Given the description of an element on the screen output the (x, y) to click on. 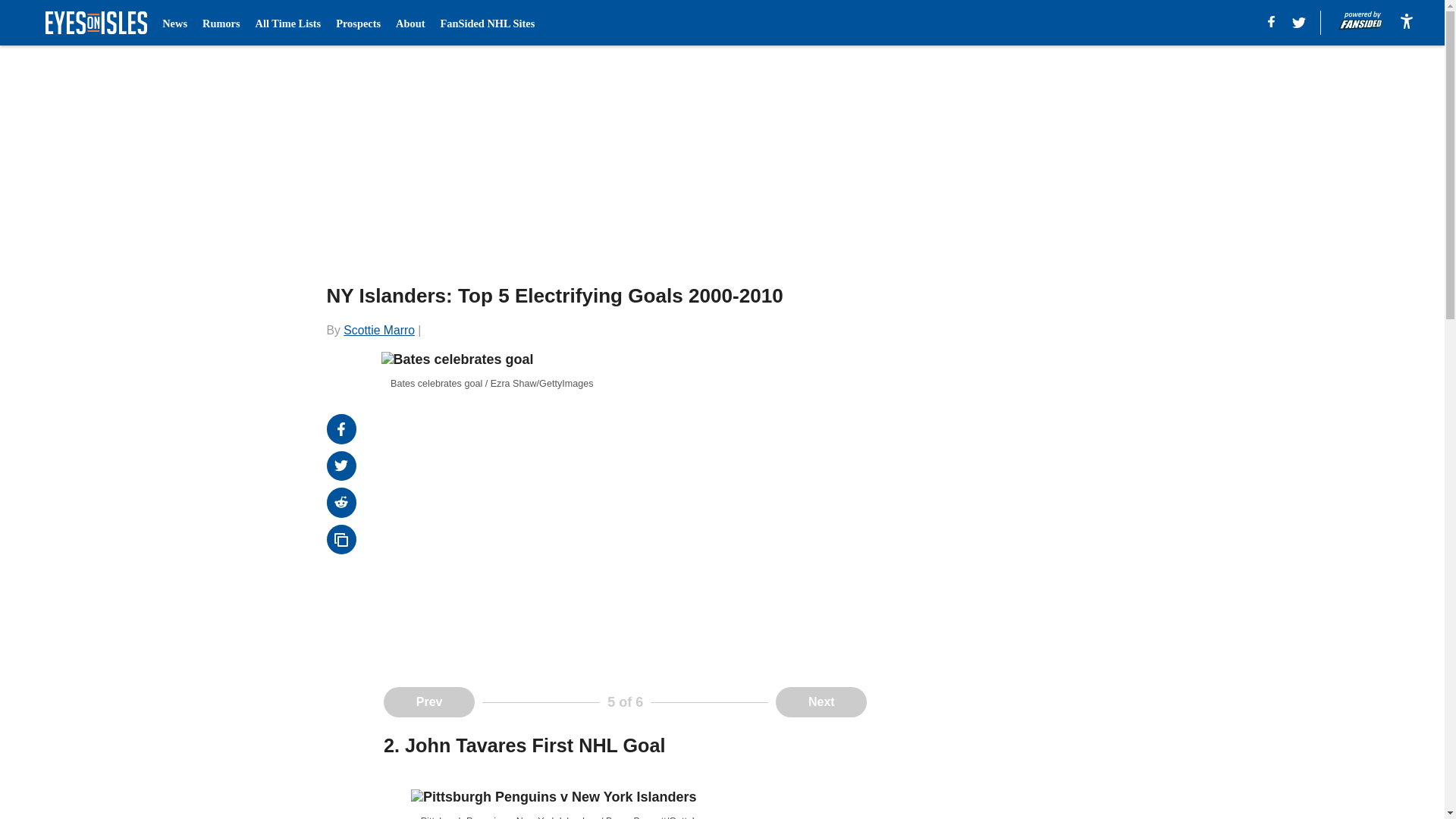
Scottie Marro (378, 329)
FanSided NHL Sites (486, 23)
Next (821, 702)
Prev (429, 702)
Prospects (358, 23)
All Time Lists (288, 23)
About (410, 23)
News (174, 23)
Rumors (221, 23)
